Given the description of an element on the screen output the (x, y) to click on. 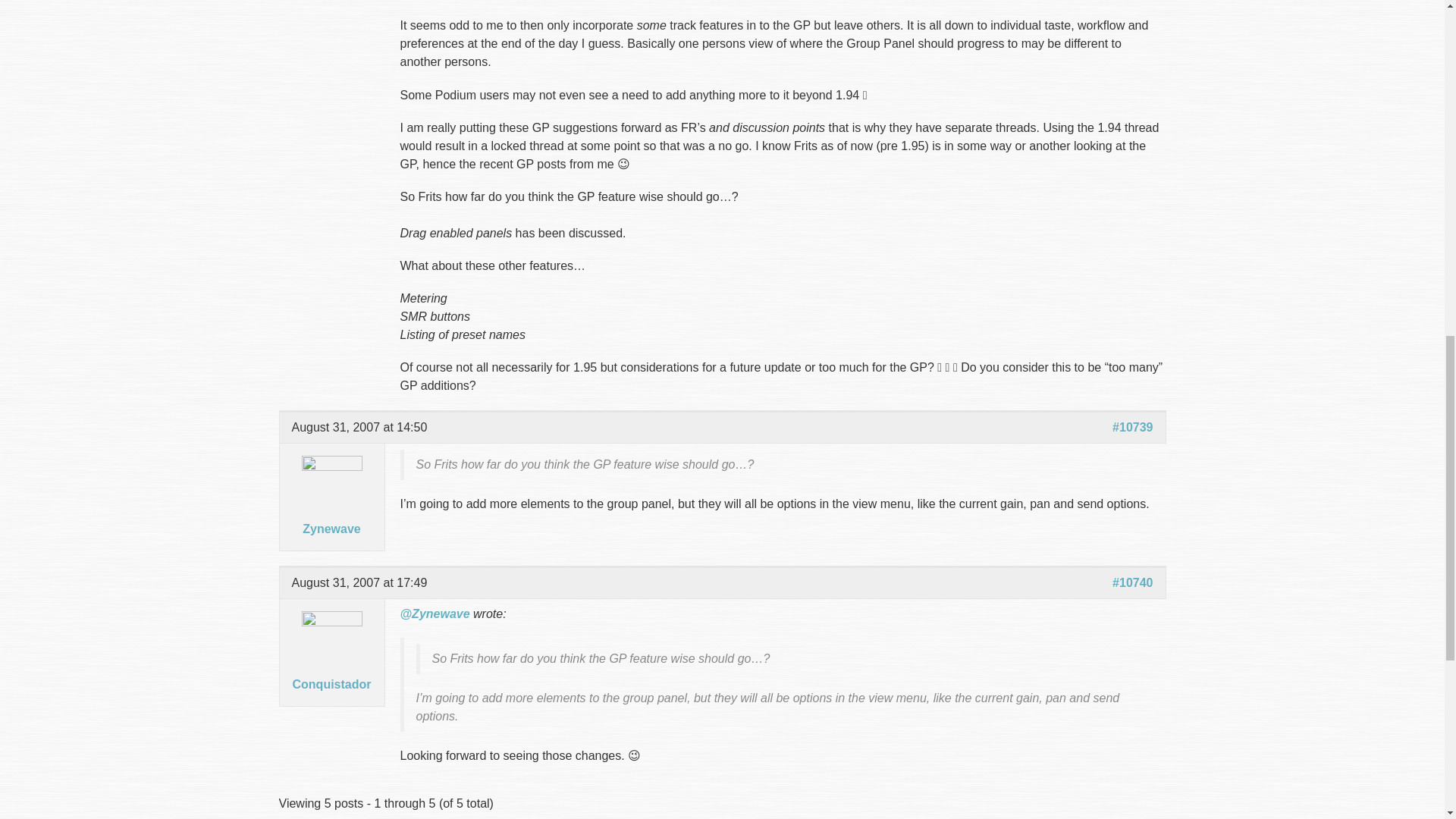
View Zynewave's profile (331, 505)
View Conquistador's profile (331, 661)
Zynewave (331, 505)
